Given the description of an element on the screen output the (x, y) to click on. 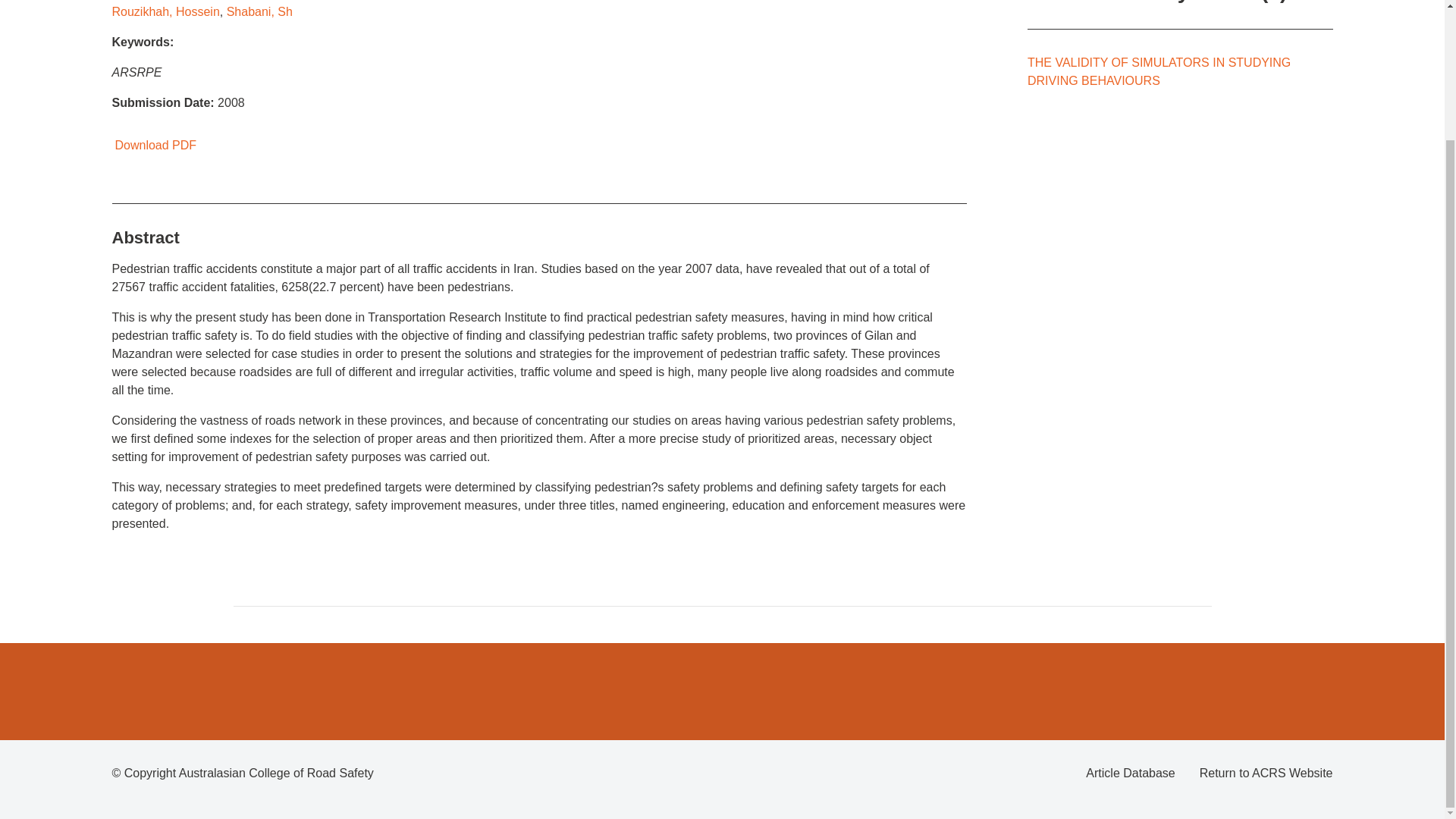
THE VALIDITY OF SIMULATORS IN STUDYING DRIVING BEHAVIOURS (1158, 71)
Rouzikhah, Hossein (165, 11)
Return to ACRS Website (1266, 773)
Download PDF (154, 144)
Shabani, Sh (259, 11)
Article Database (1130, 773)
Australasian College of Road Safety (276, 772)
